Given the description of an element on the screen output the (x, y) to click on. 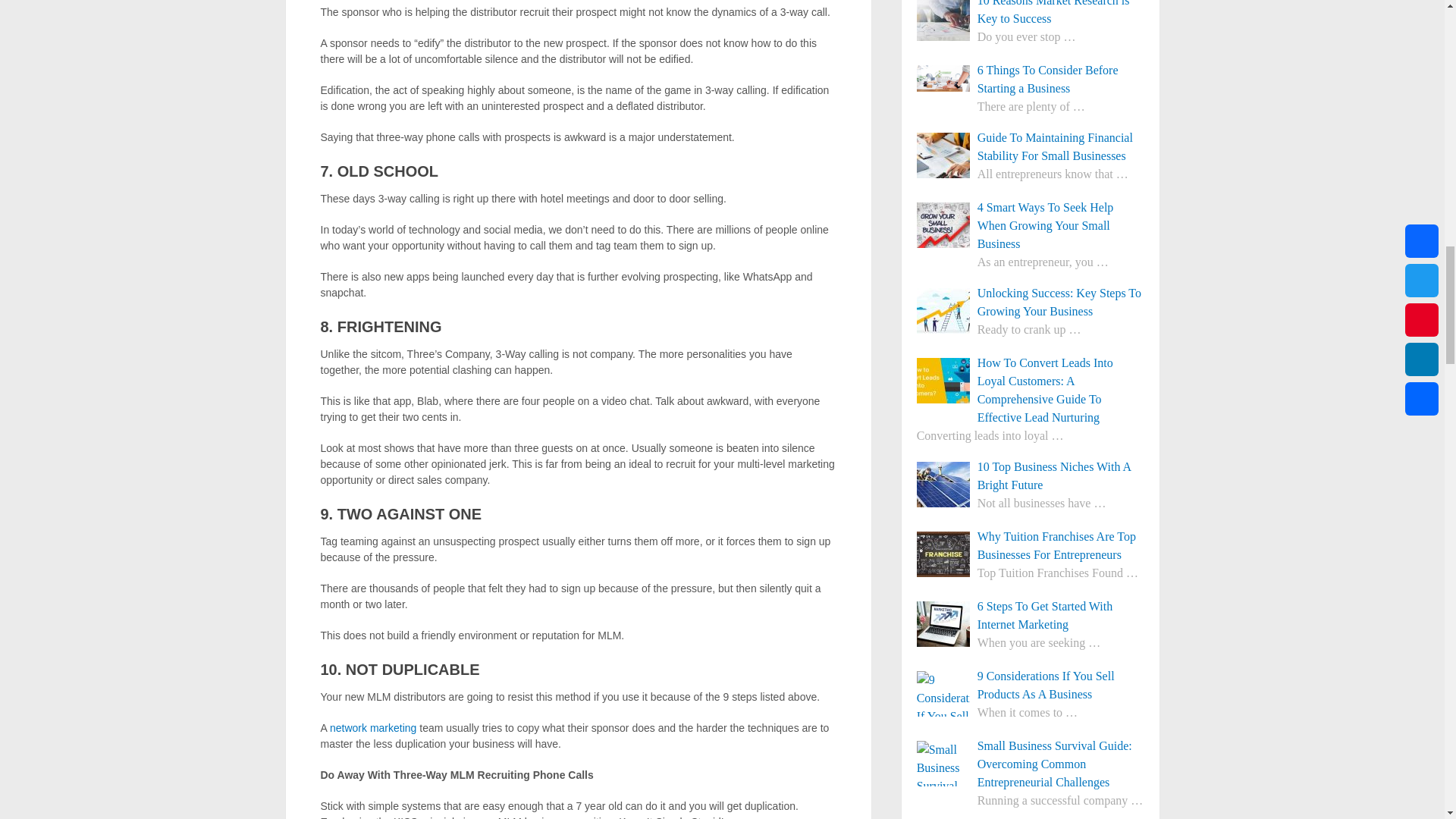
network marketing (373, 727)
